Given the description of an element on the screen output the (x, y) to click on. 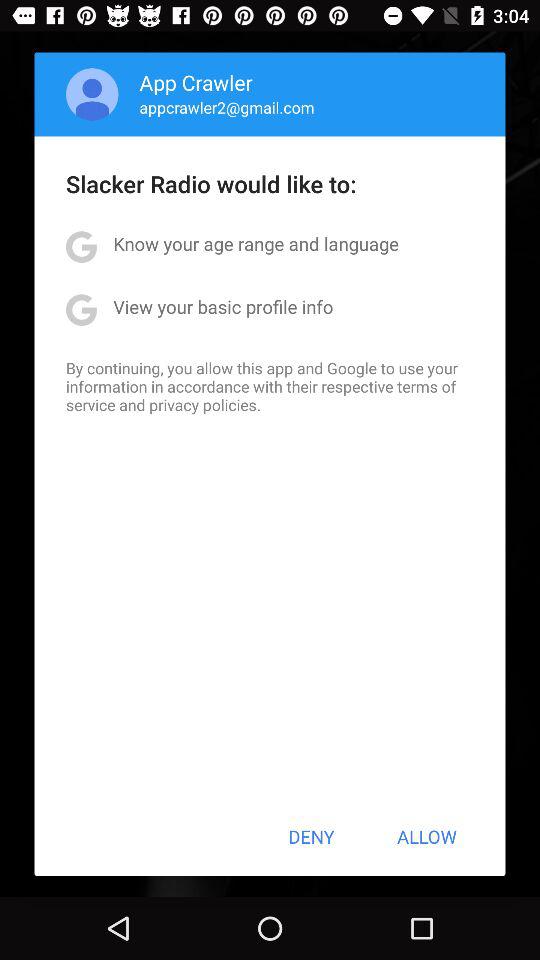
swipe to the appcrawler2@gmail.com app (226, 107)
